Given the description of an element on the screen output the (x, y) to click on. 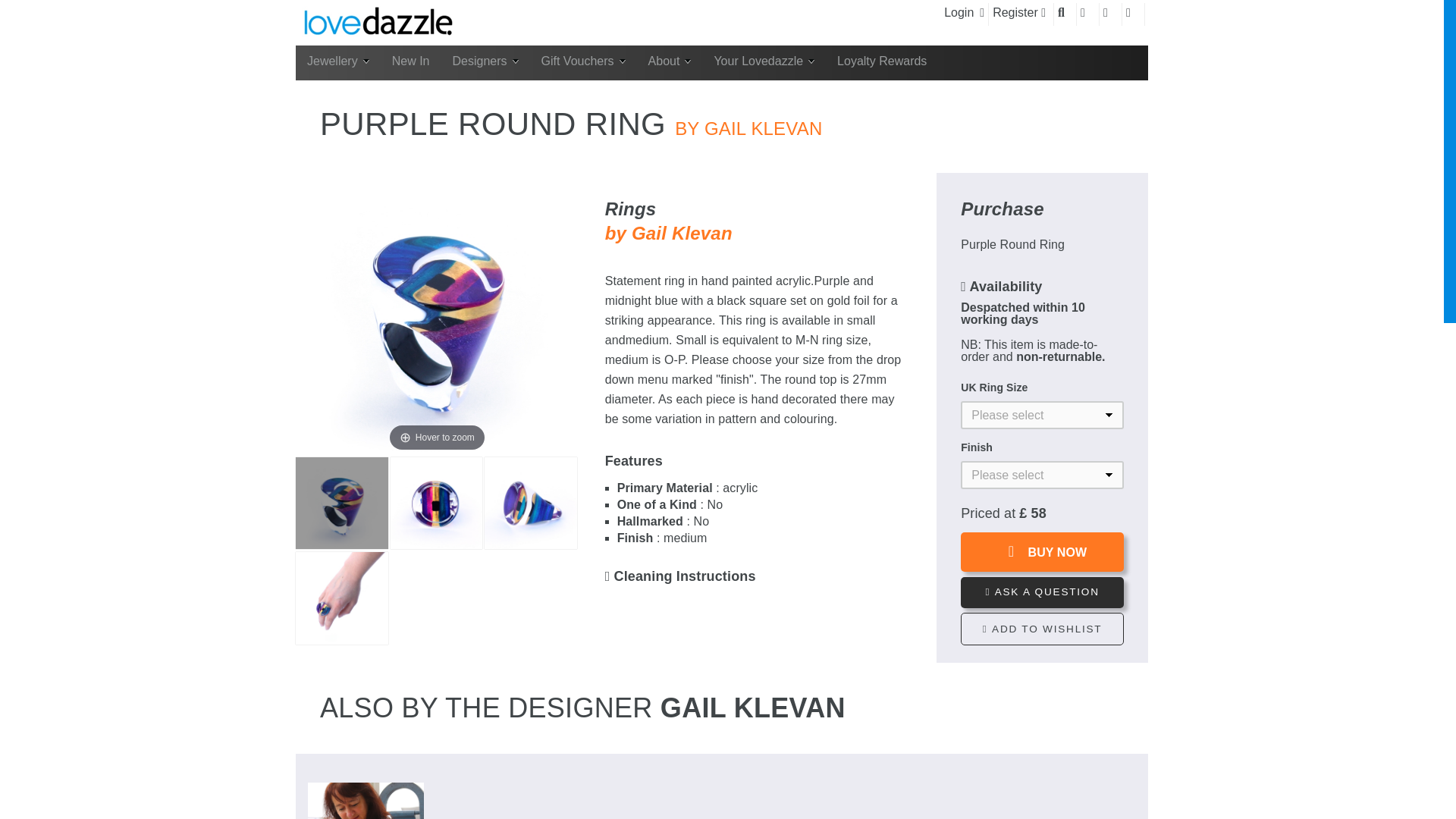
Search (1064, 14)
Purple Round Ring 1 (341, 503)
Purple Round Ring 2 (436, 503)
My Account (1088, 14)
New In (410, 62)
My Basket (1133, 14)
Ask a question (1042, 592)
Register (1018, 14)
Add to wishlist (1042, 628)
Jewellery (337, 62)
back to the jewellery designer Gail Klevan's page (748, 127)
Register (1018, 14)
back to Gail Klevan's page (668, 244)
Designers (485, 62)
Login (964, 14)
